Given the description of an element on the screen output the (x, y) to click on. 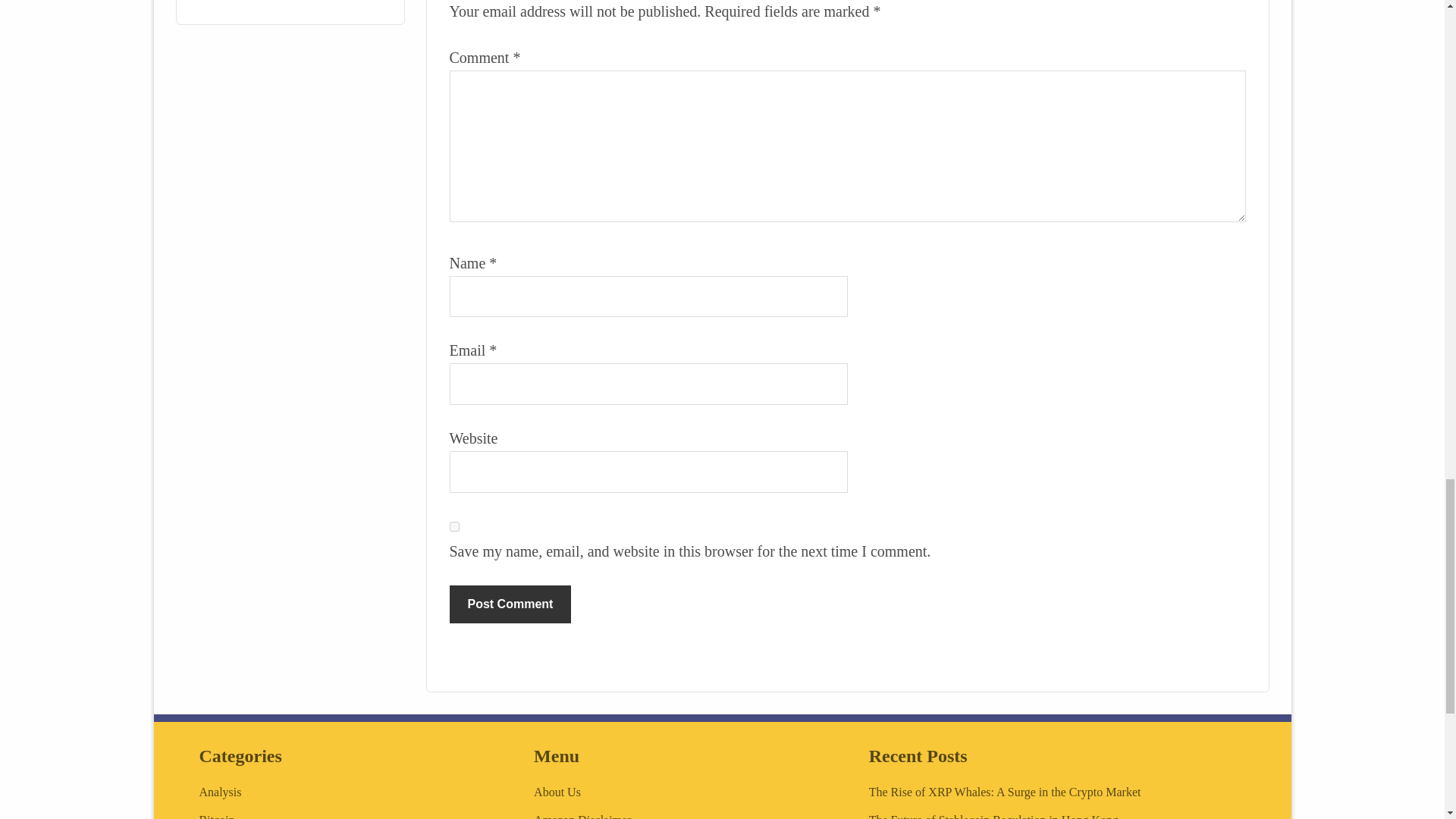
Post Comment (509, 604)
yes (453, 526)
